Given the description of an element on the screen output the (x, y) to click on. 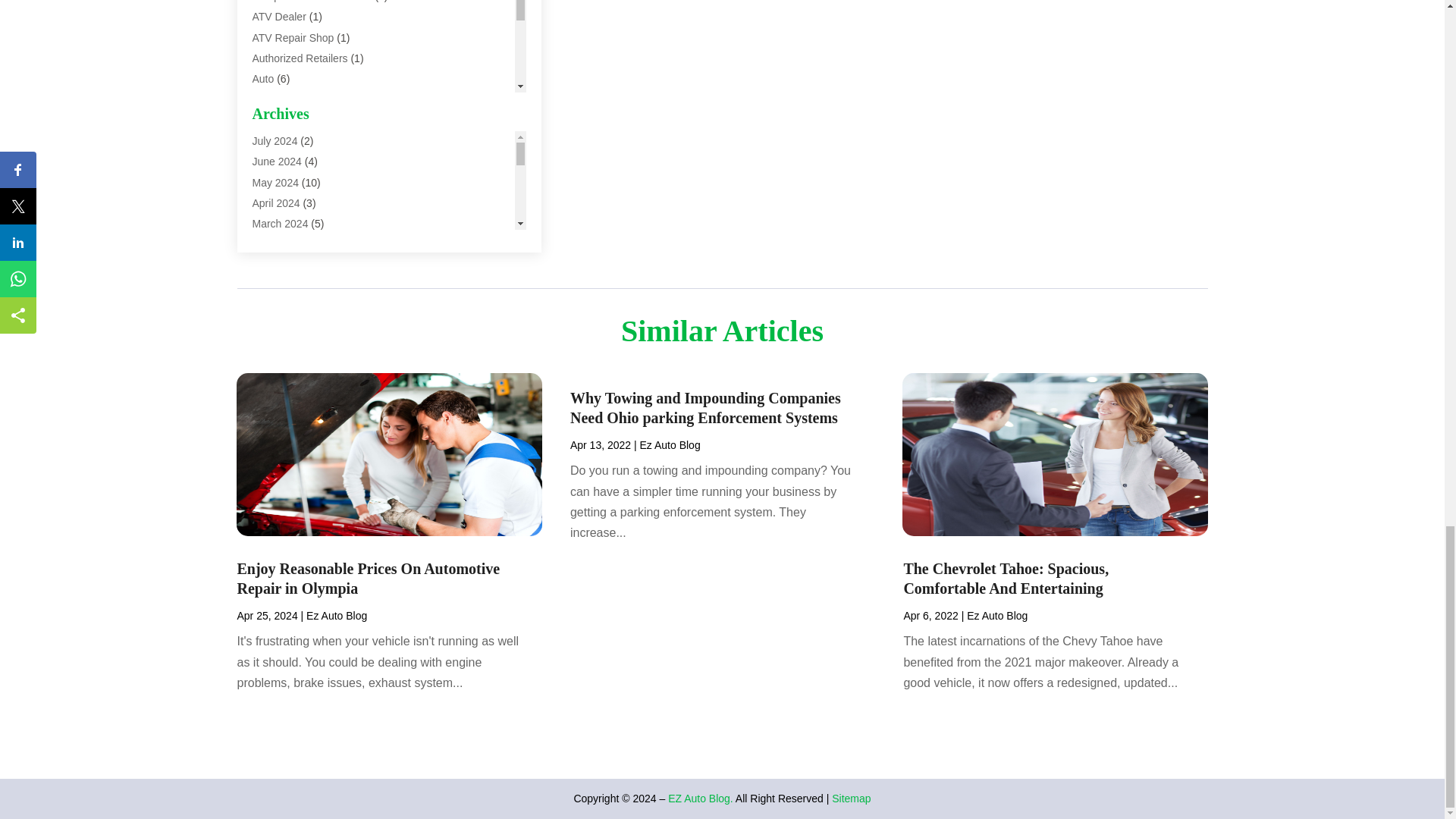
ATV Repair Shop (292, 37)
Auto Body (276, 99)
Auto (262, 78)
ATV Dealer (278, 16)
Auto Dealer (279, 119)
Auto Dealer. (280, 140)
Authorized Retailers (299, 58)
Antiques And Collectibles (311, 1)
